Given the description of an element on the screen output the (x, y) to click on. 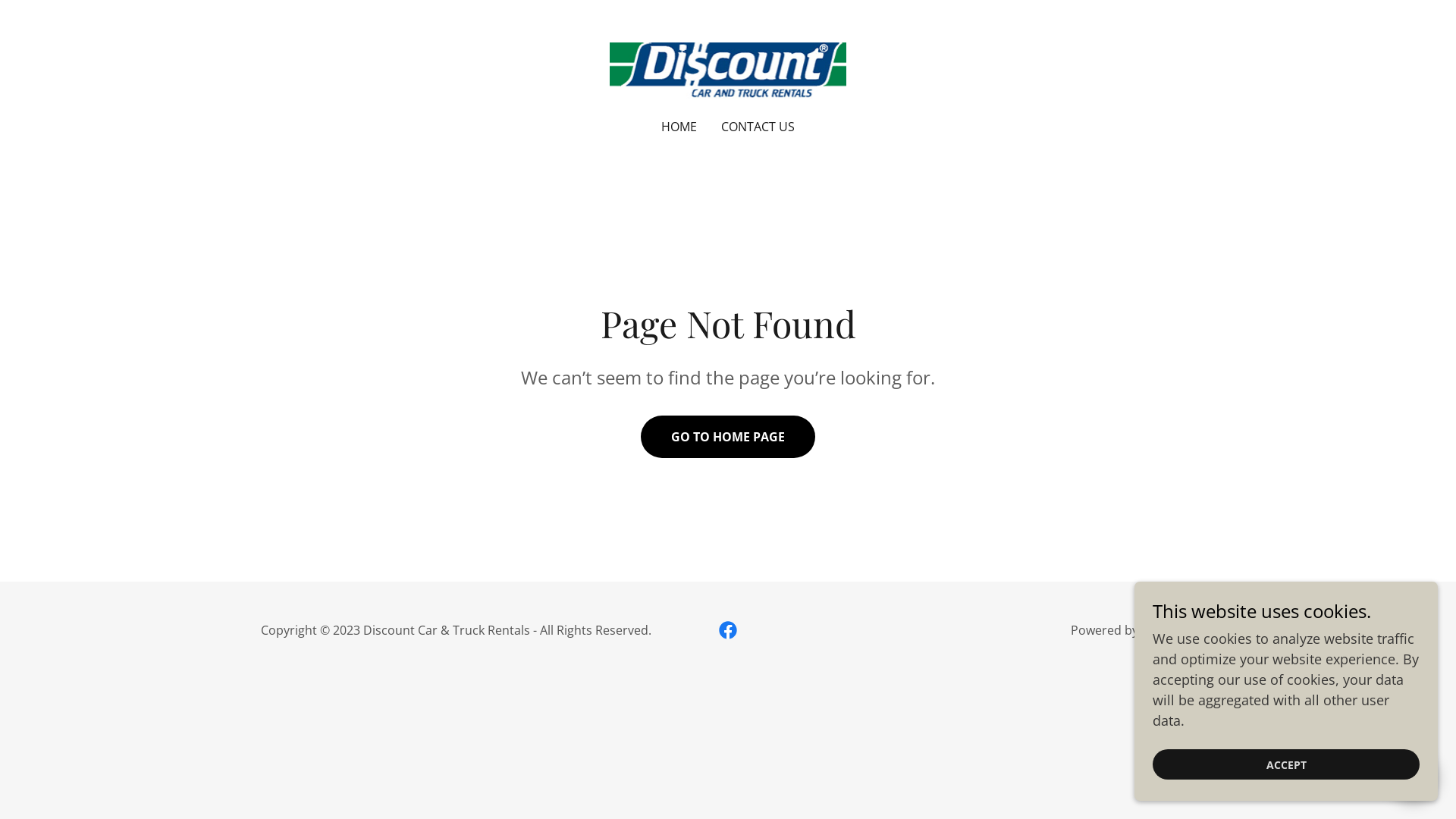
GoDaddy Element type: text (1168, 629)
ACCEPT Element type: text (1285, 764)
Discount Car & Truck Rental Element type: hover (728, 68)
HOME Element type: text (678, 126)
GO TO HOME PAGE Element type: text (727, 436)
CONTACT US Element type: text (757, 126)
